Given the description of an element on the screen output the (x, y) to click on. 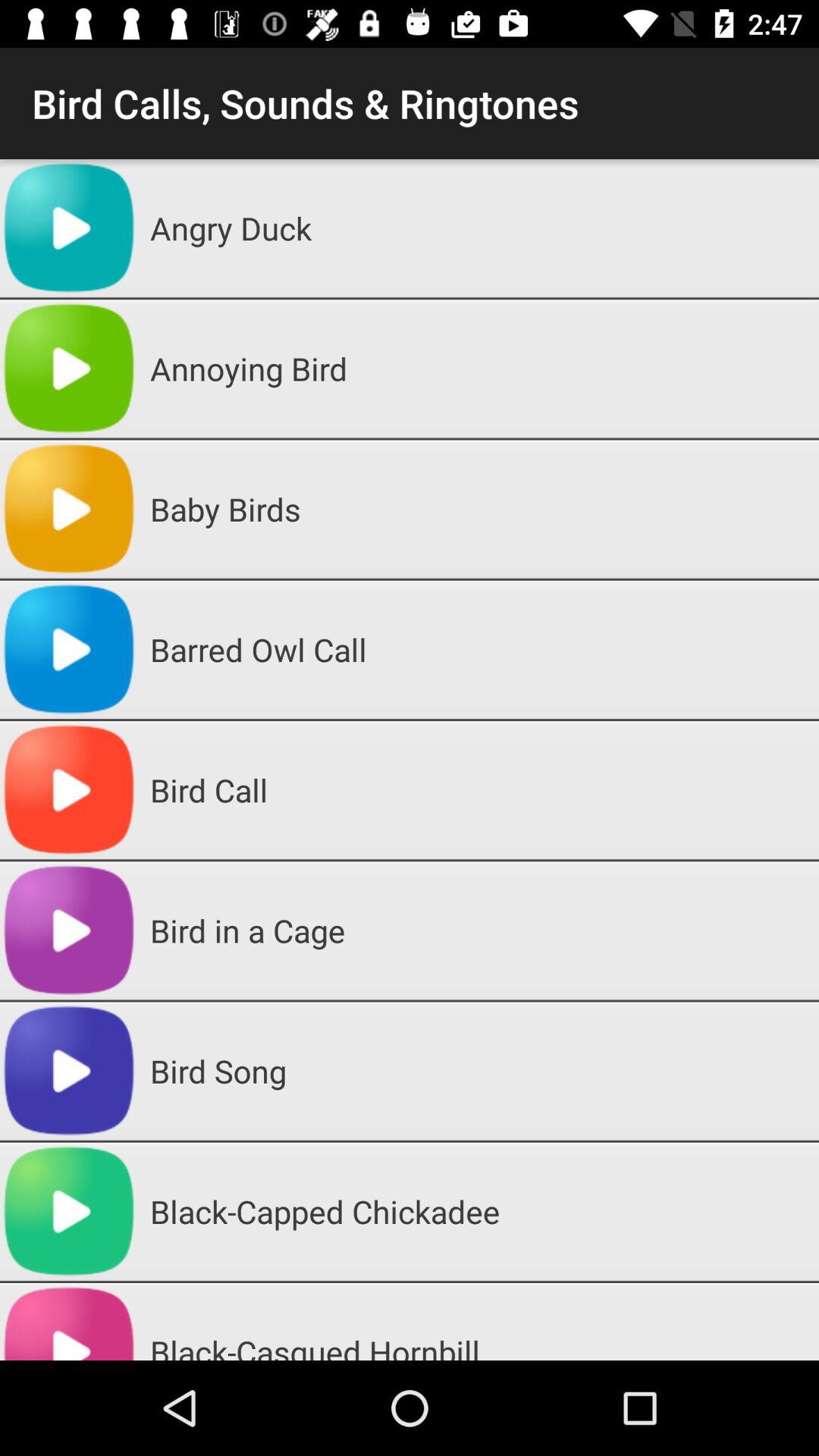
turn off app below bird calls sounds item (478, 228)
